Given the description of an element on the screen output the (x, y) to click on. 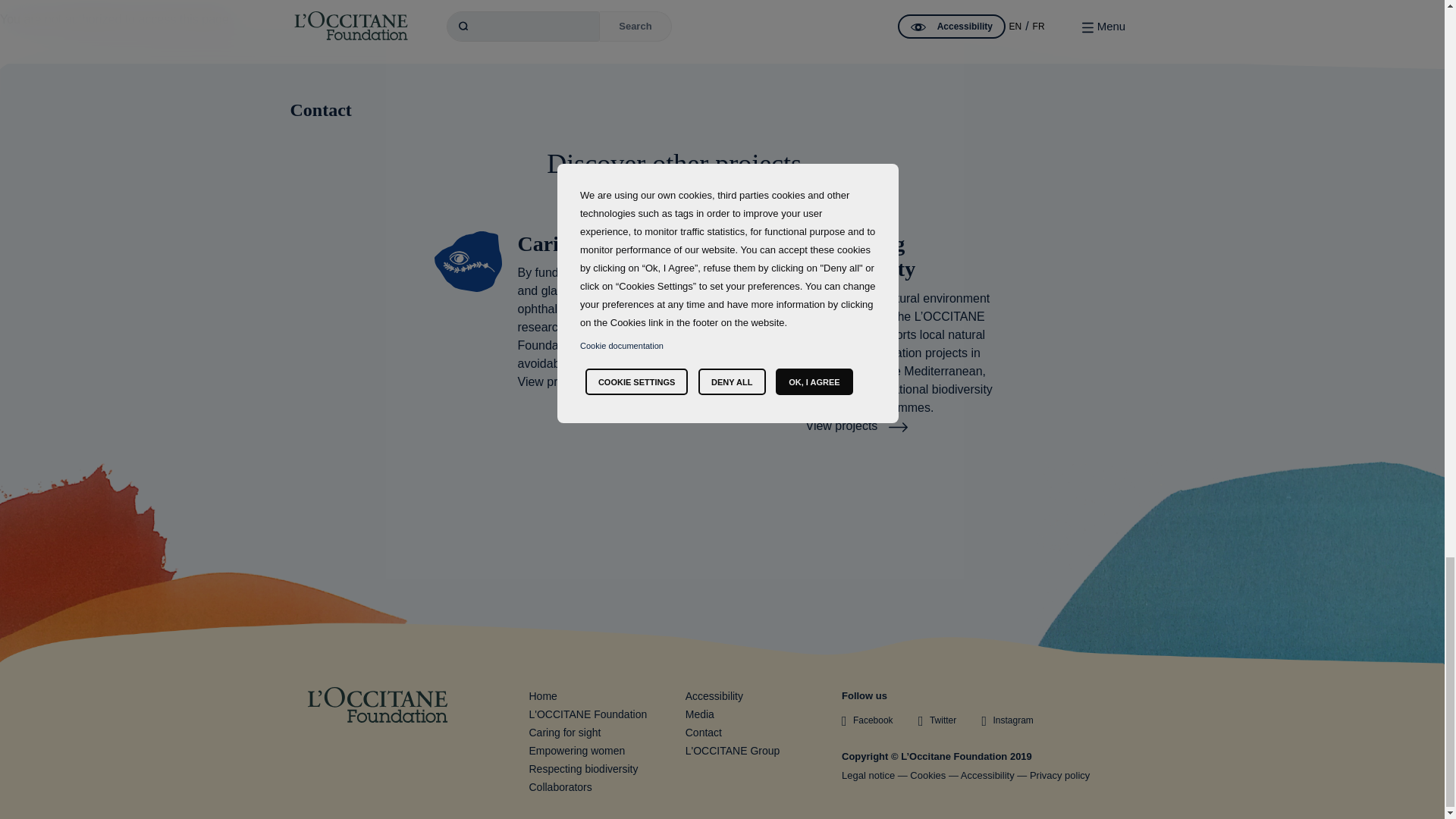
View Respecting Biodiversity projects (856, 425)
Contact (721, 110)
Media (699, 714)
Accessibility (713, 695)
Activity reports (699, 714)
Accessibility (987, 775)
Collaborators (560, 787)
Empowering women (577, 750)
Respecting Biodiversity (584, 768)
View Caring for Sight projects (568, 381)
